Given the description of an element on the screen output the (x, y) to click on. 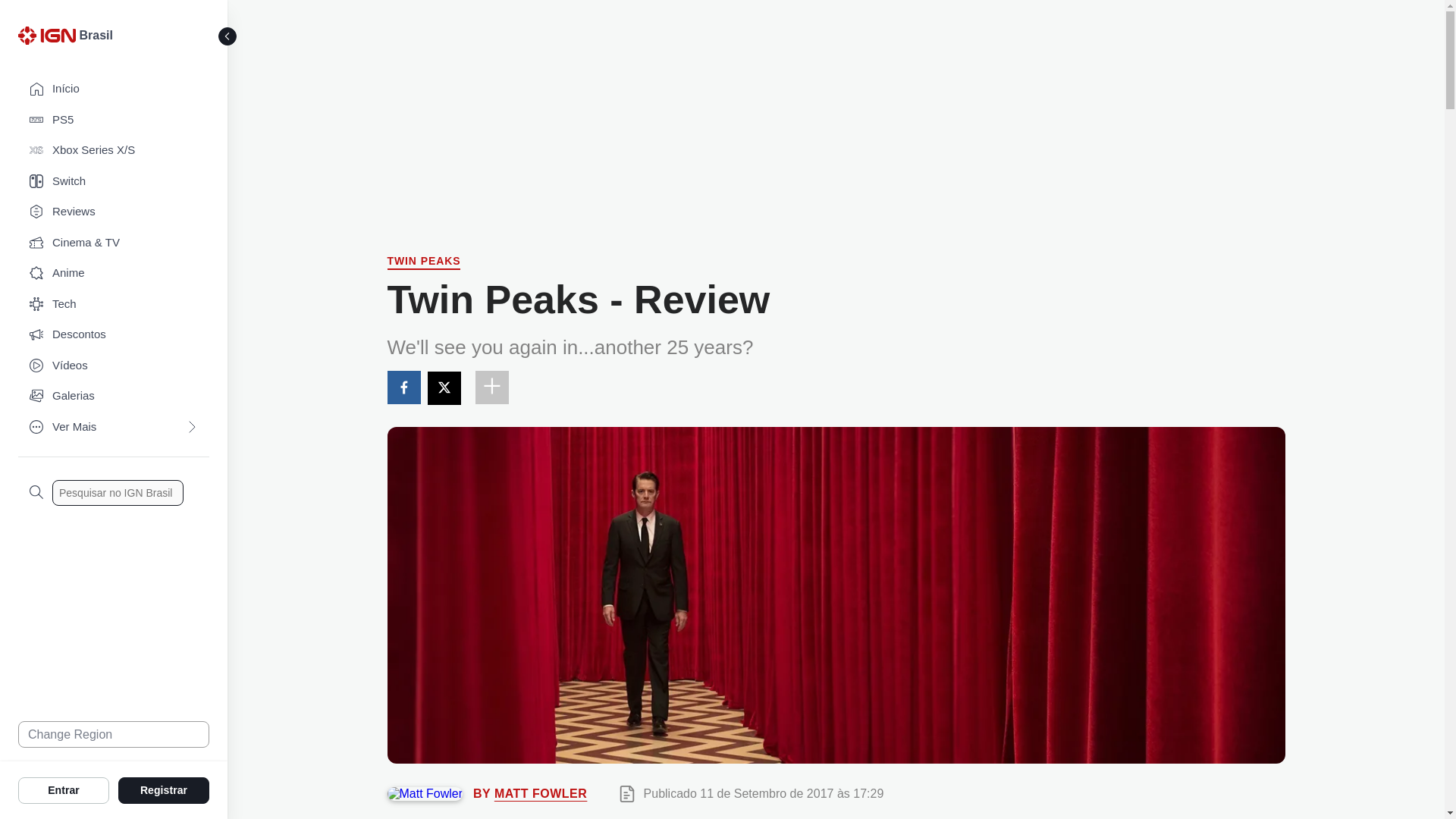
Galerias (113, 396)
MATT FOWLER (540, 793)
Registrar (163, 789)
Anime (113, 273)
Descontos (113, 334)
Reviews (113, 211)
IGN Logo (48, 39)
Tech (113, 304)
IGN Logo (46, 34)
Twin Peaks (423, 262)
